Given the description of an element on the screen output the (x, y) to click on. 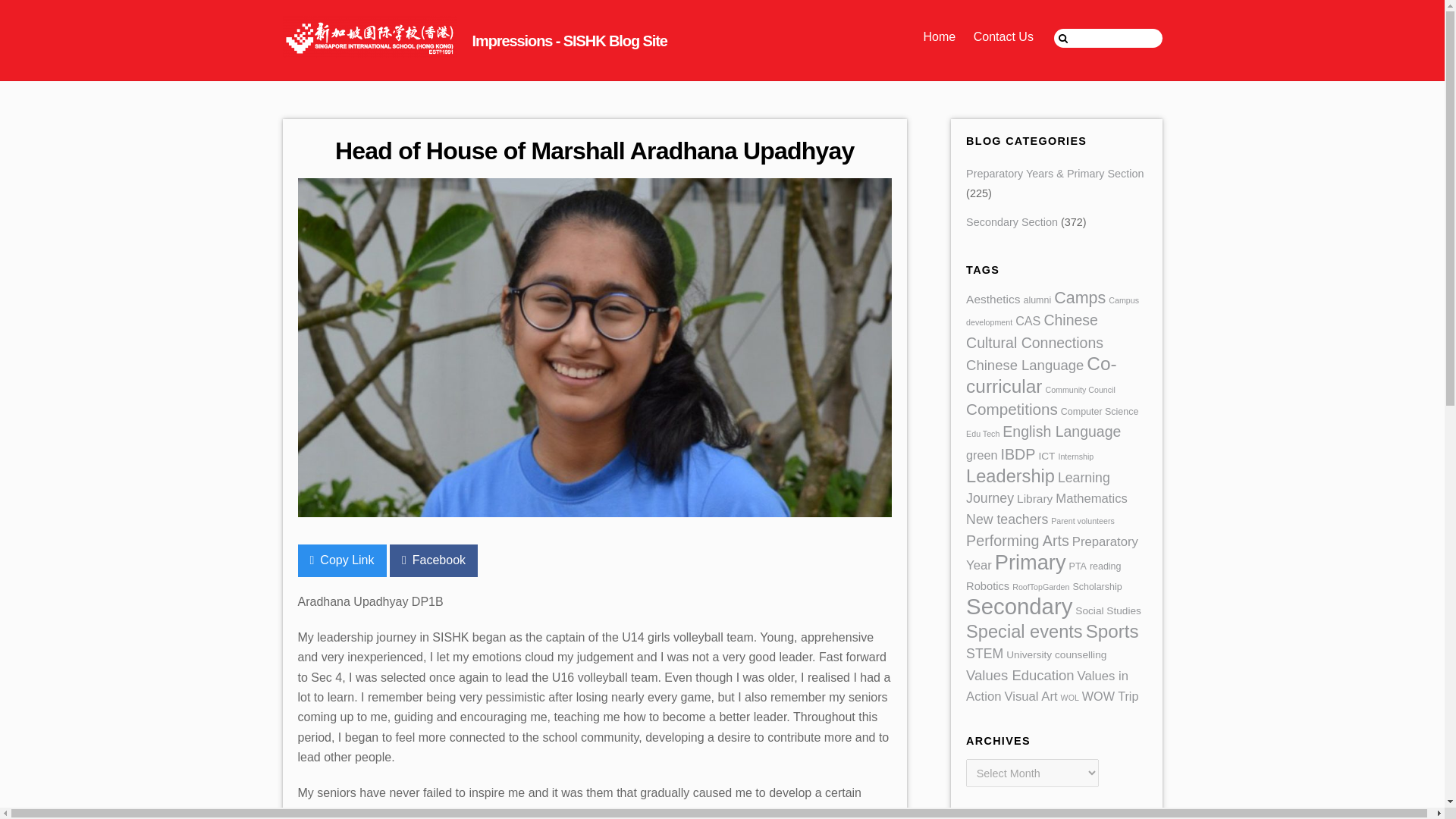
green (981, 454)
Secondary Section (1012, 222)
Internship (1075, 456)
CAS (1027, 320)
Chinese Cultural Connections (1034, 331)
Home (938, 36)
Chinese Language (1024, 365)
alumni (1037, 299)
Edu Tech (982, 433)
Aesthetics (993, 298)
Facebook (433, 560)
Community Council (1080, 388)
Campus development (1052, 310)
Contact Us (1003, 36)
Co-curricular (1041, 373)
